Given the description of an element on the screen output the (x, y) to click on. 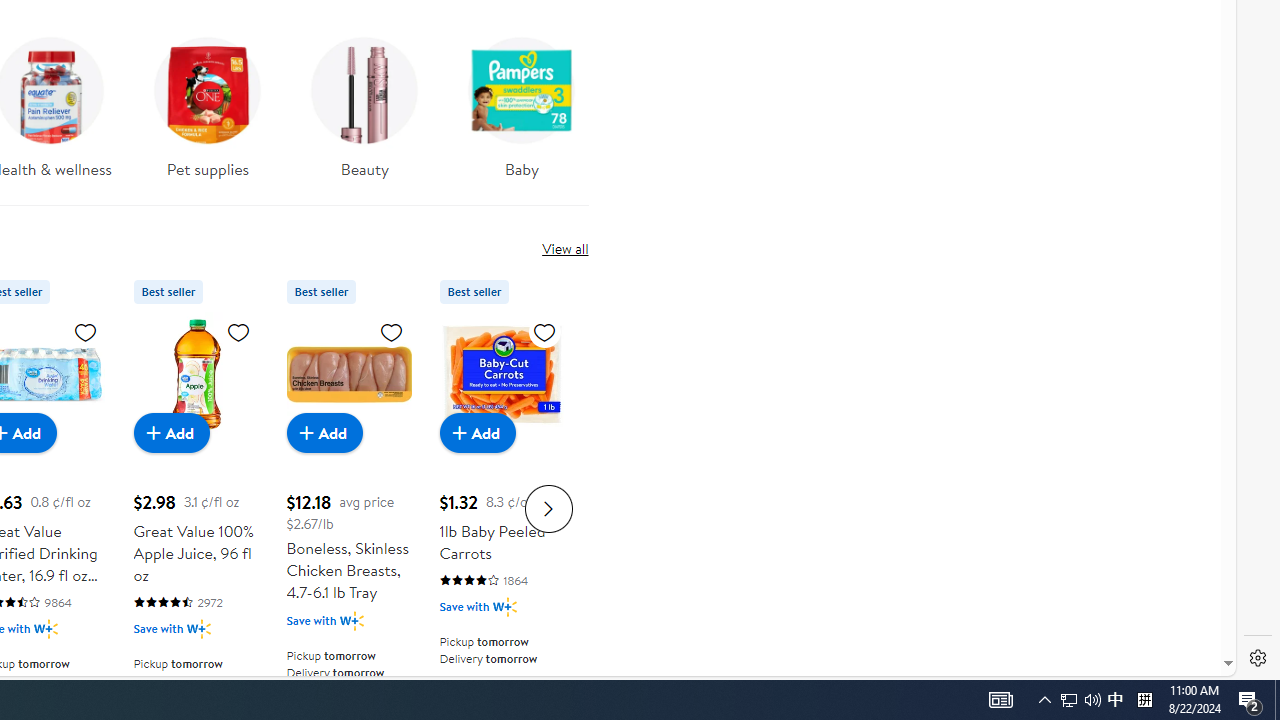
Next slide for Product Carousel list (548, 507)
Add to cart - Great Value 100% Apple Juice, 96 fl oz (172, 431)
Baby (521, 101)
Boneless, Skinless Chicken Breasts, 4.7-6.1 lb Tray (348, 374)
